Given the description of an element on the screen output the (x, y) to click on. 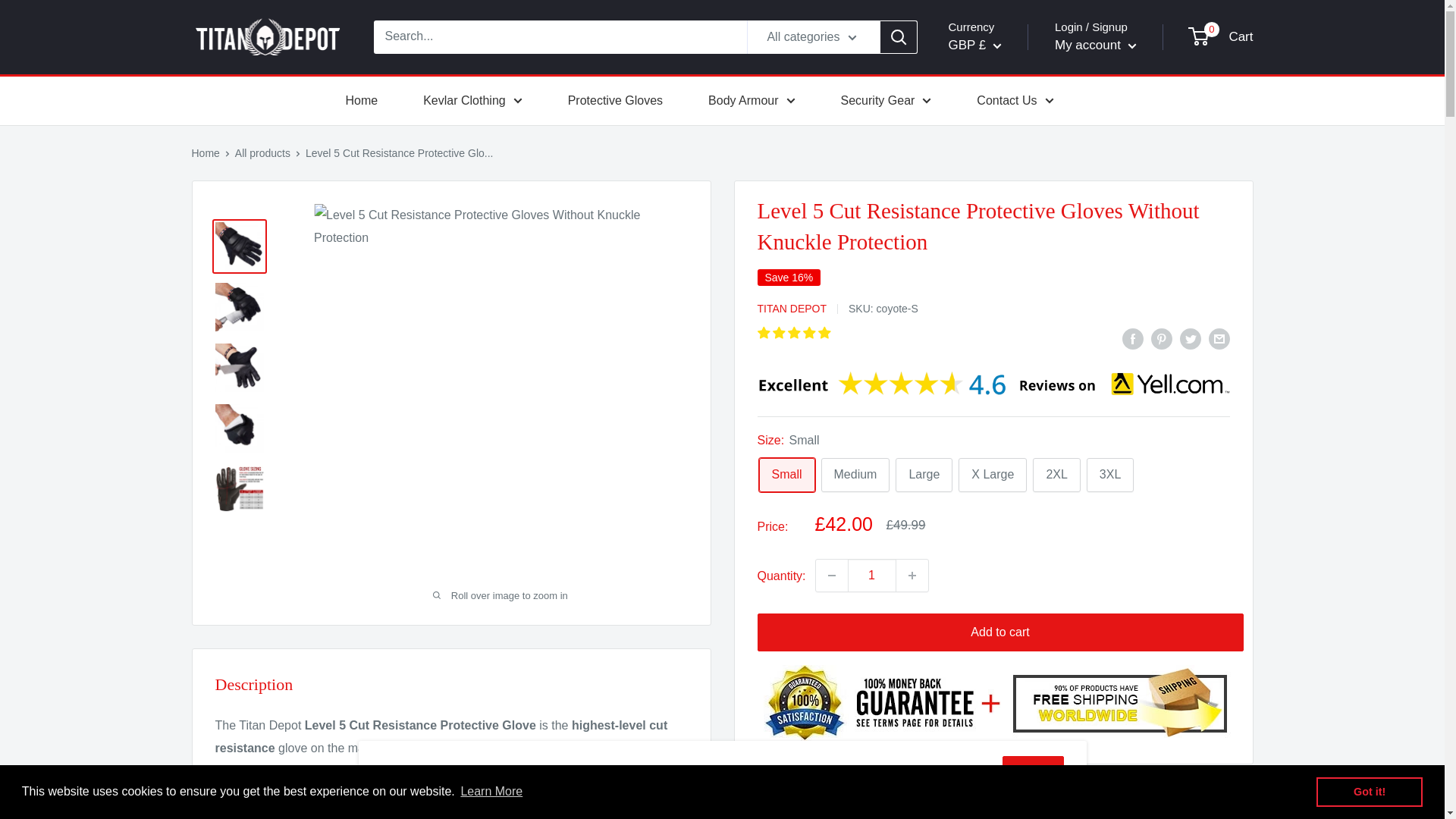
X Large (992, 474)
Medium (855, 474)
cookie policy page (842, 769)
Got it! (1369, 791)
Decrease quantity by 1 (831, 575)
1 (871, 575)
Small (785, 474)
2XL (1056, 474)
Increase quantity by 1 (912, 575)
Learn More (491, 791)
